Given the description of an element on the screen output the (x, y) to click on. 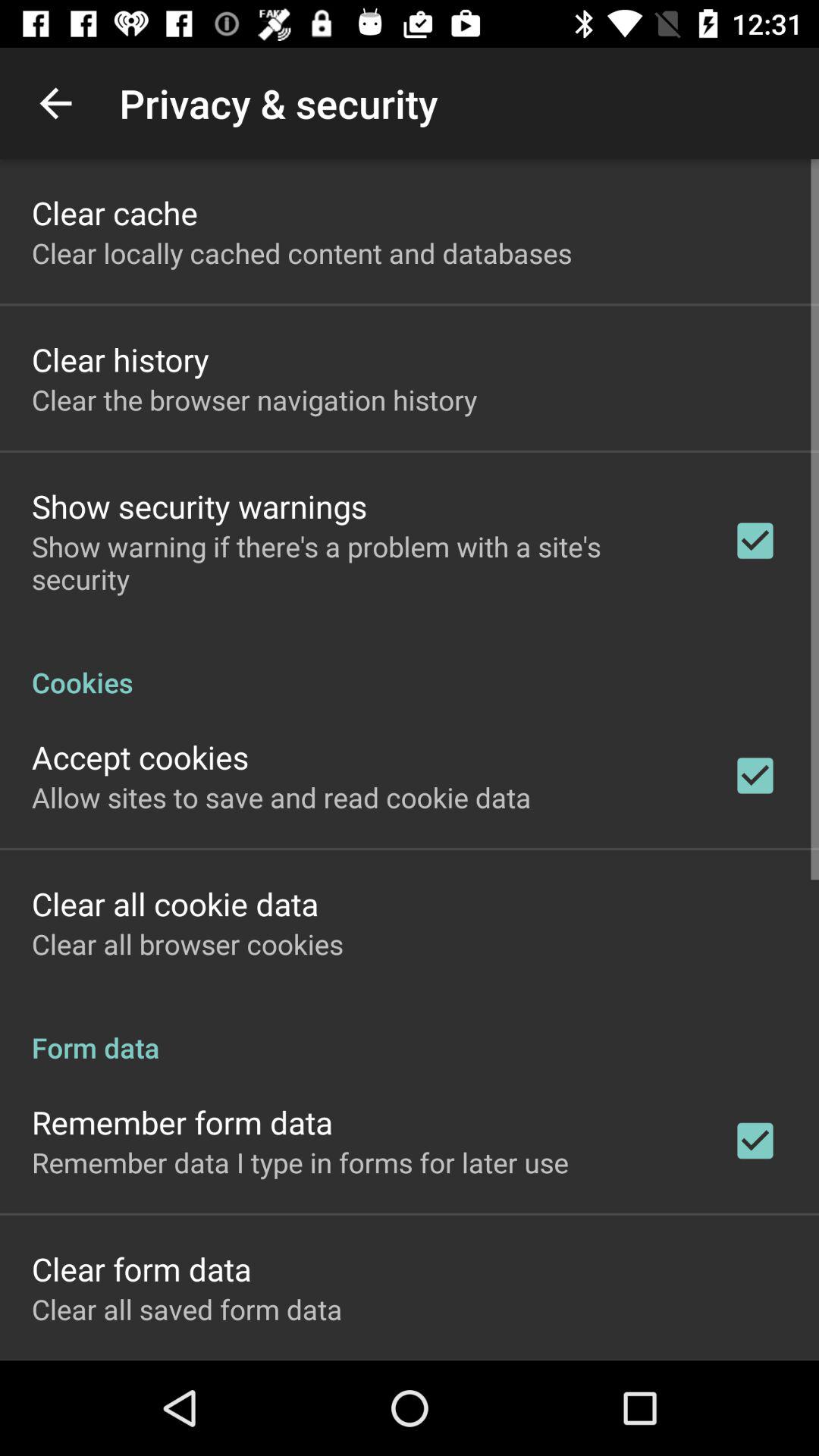
press the clear locally cached (301, 252)
